Given the description of an element on the screen output the (x, y) to click on. 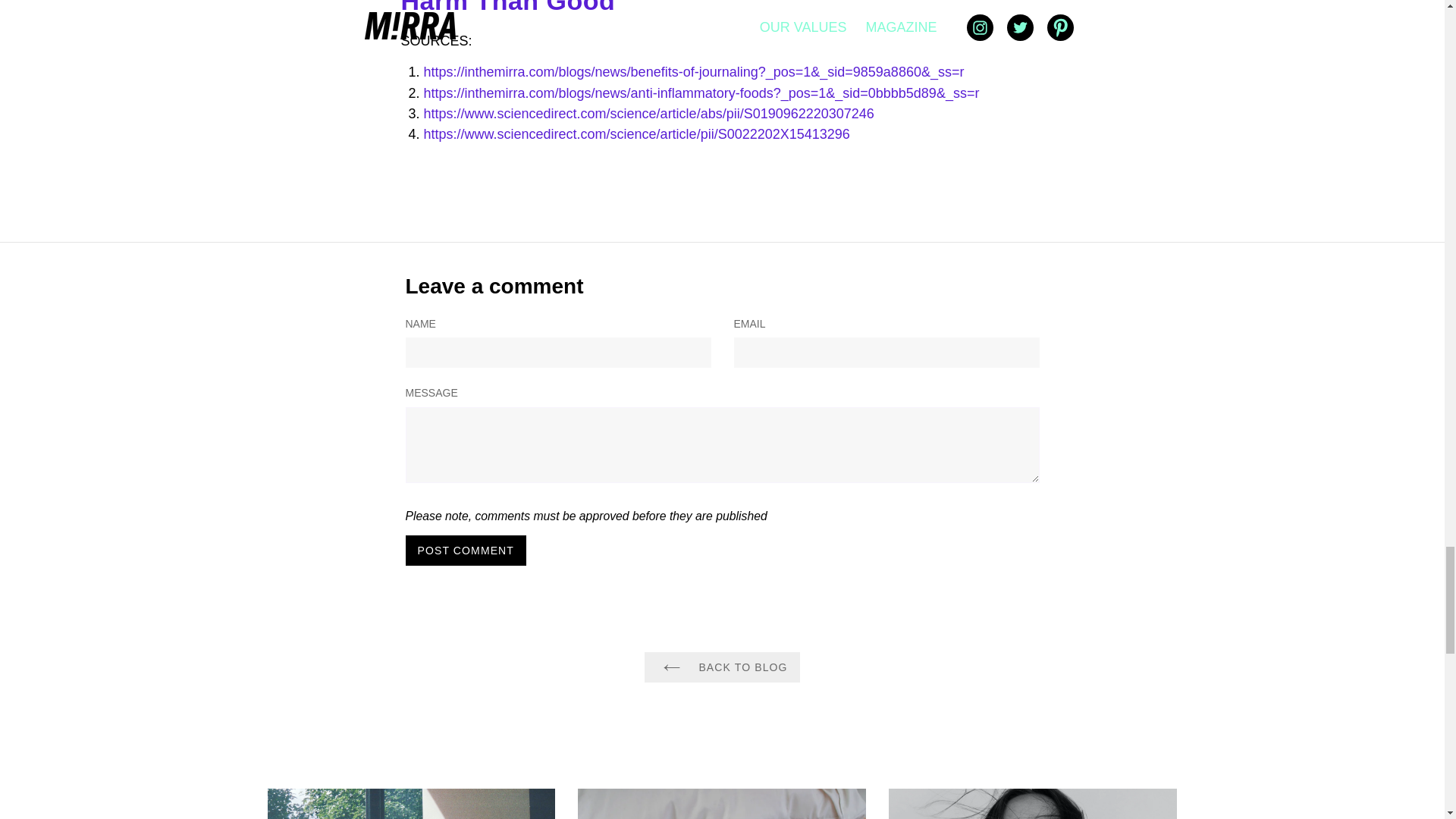
BACK TO BLOG (722, 666)
Post comment (464, 550)
Post comment (464, 550)
Signs Your New Products May Be Causing More Harm Than Good (702, 7)
Self Care 101: The 6 Different Types of Self-Care (410, 803)
